Given the description of an element on the screen output the (x, y) to click on. 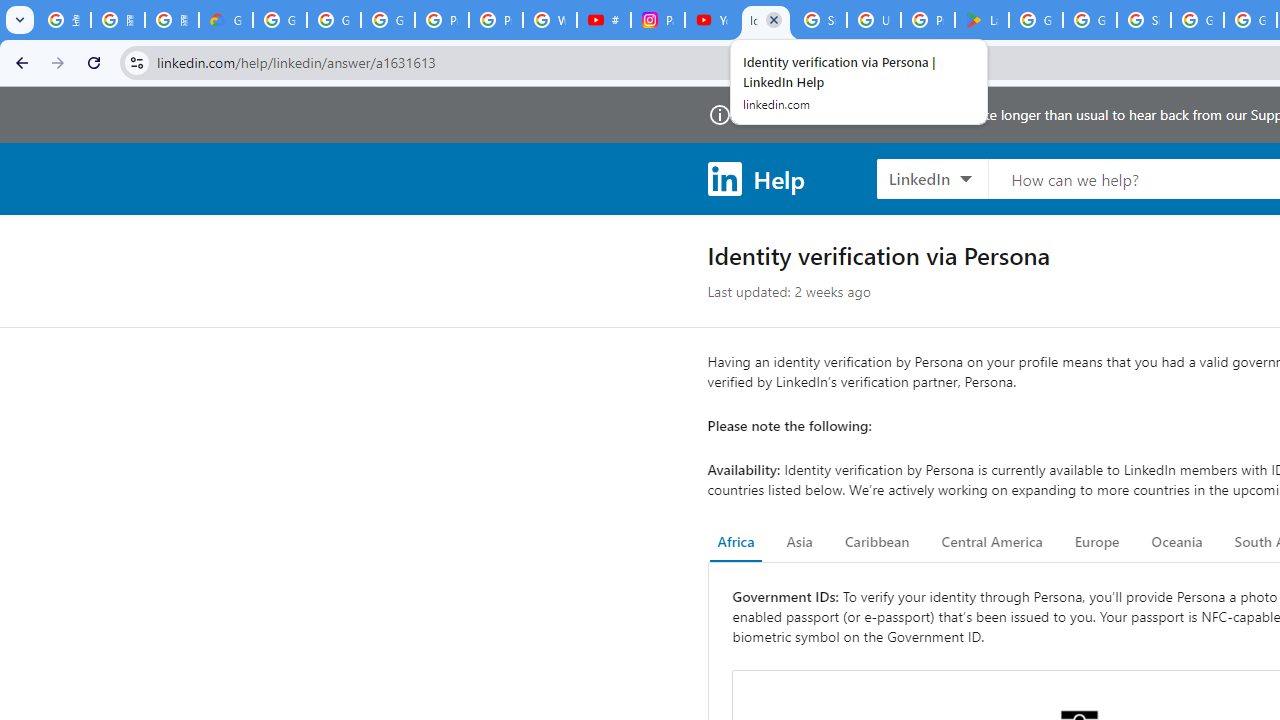
Last Shelter: Survival - Apps on Google Play (981, 20)
System (10, 11)
Forward (57, 62)
YouTube Culture & Trends - On The Rise: Handcam Videos (711, 20)
Identity verification via Persona | LinkedIn Help (765, 20)
